Given the description of an element on the screen output the (x, y) to click on. 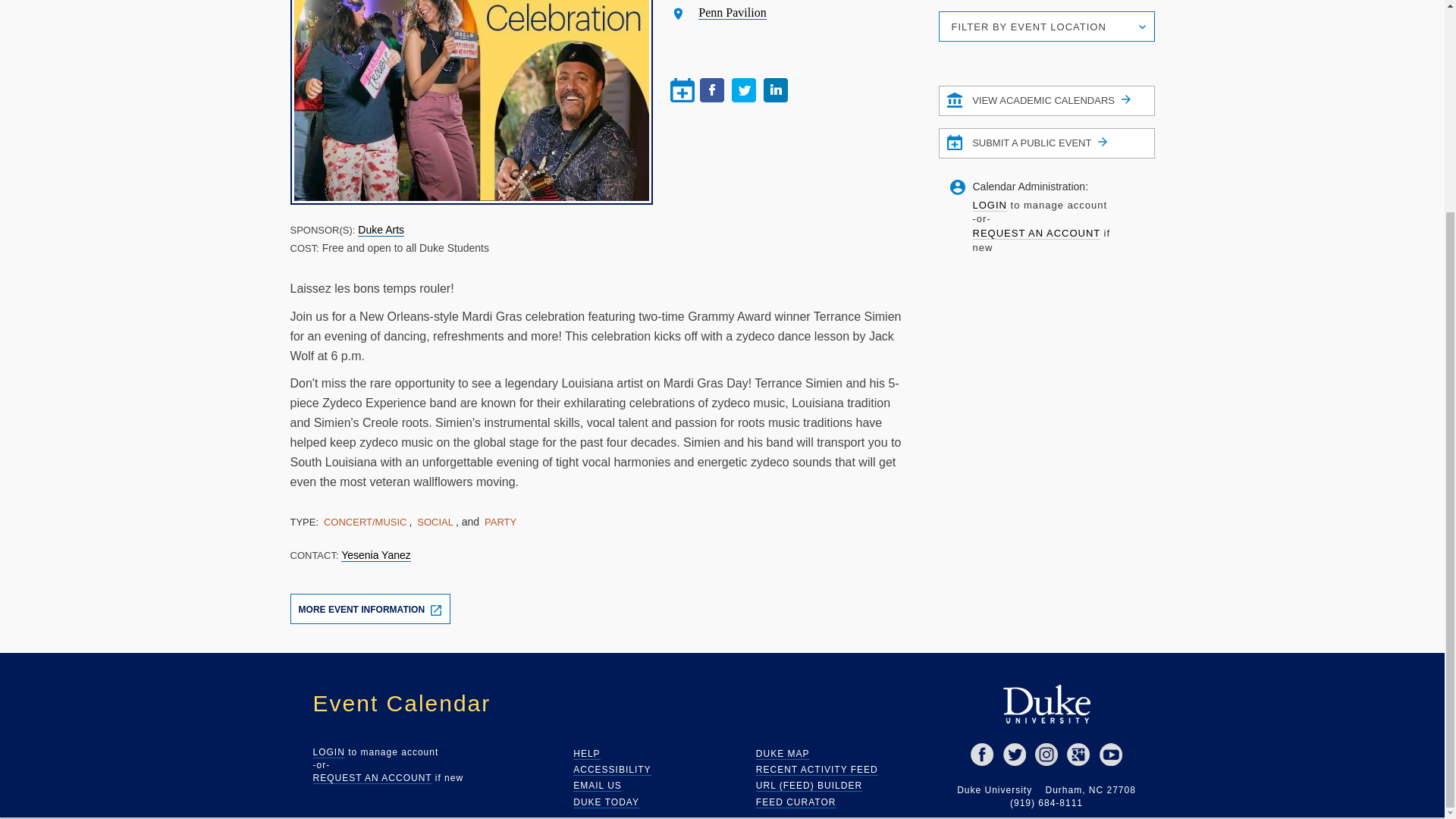
MORE EVENT INFORMATION (369, 608)
SOCIAL (434, 521)
Location (678, 13)
Duke Arts (381, 229)
Yesenia Yanez (375, 554)
Penn Pavilion (731, 12)
PARTY (499, 521)
